Given the description of an element on the screen output the (x, y) to click on. 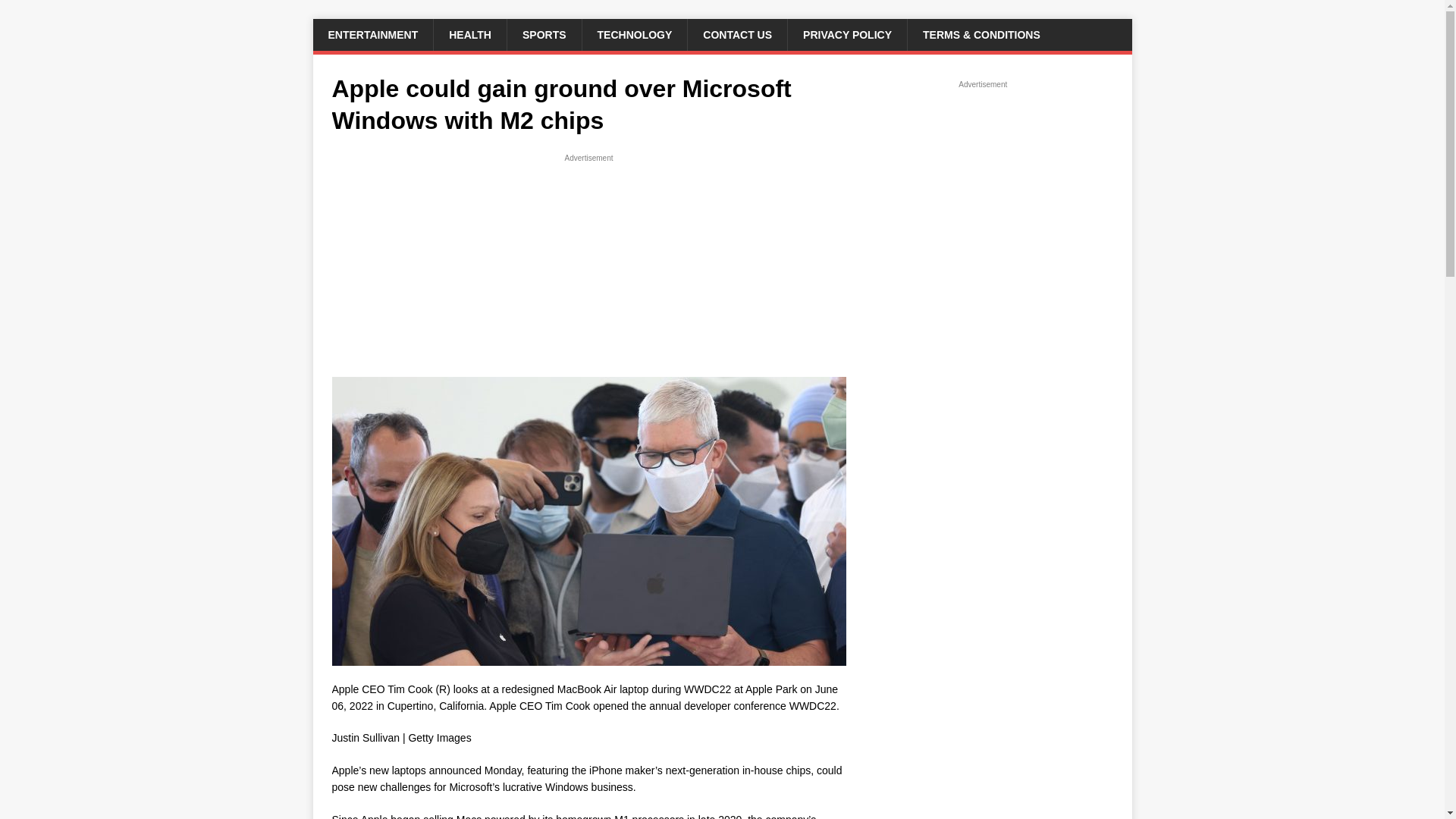
ENTERTAINMENT (372, 34)
Advertisement (588, 270)
PRIVACY POLICY (847, 34)
TECHNOLOGY (633, 34)
HEALTH (469, 34)
CONTACT US (737, 34)
SPORTS (543, 34)
